Given the description of an element on the screen output the (x, y) to click on. 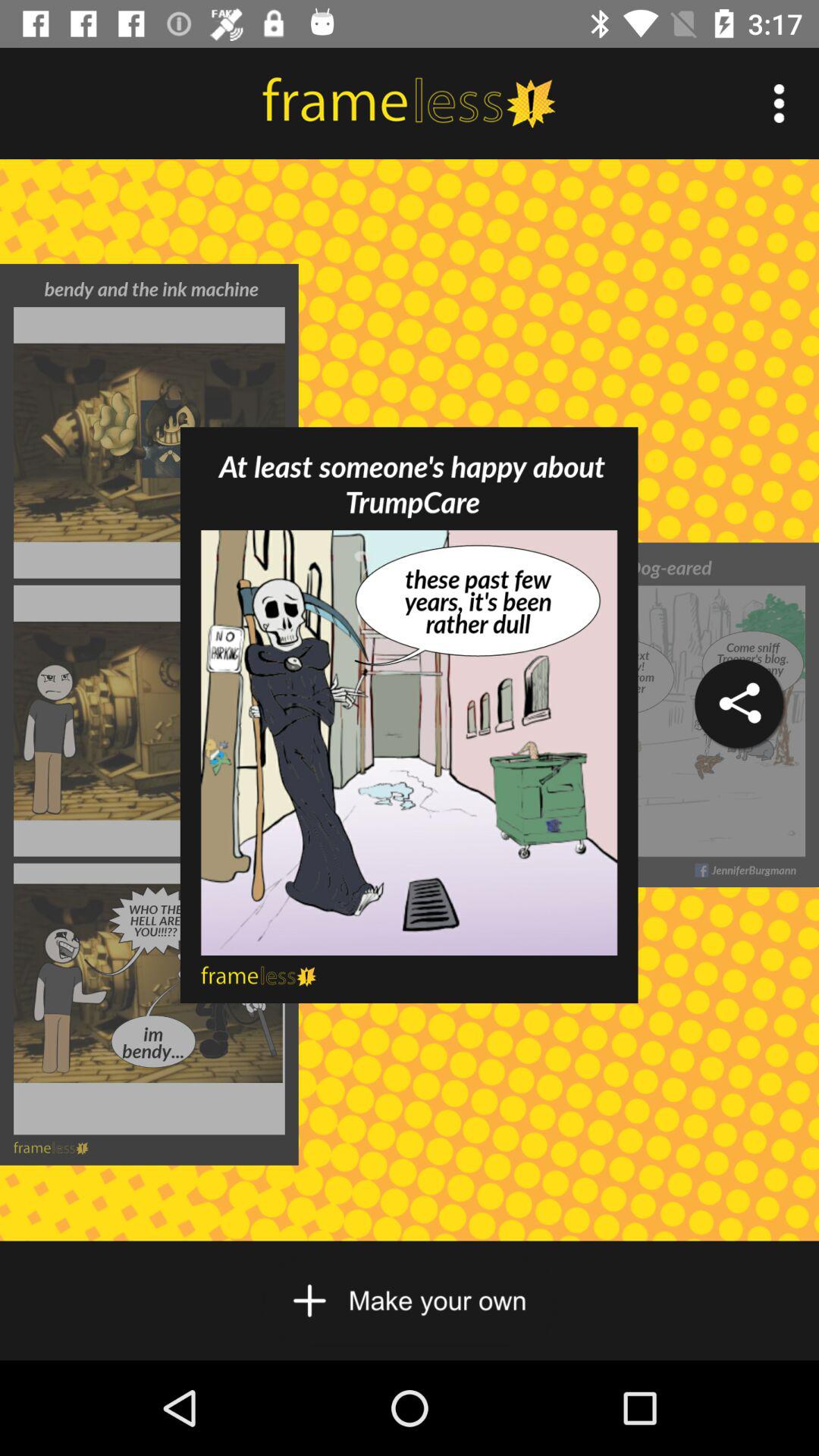
make your own image (409, 1300)
